Given the description of an element on the screen output the (x, y) to click on. 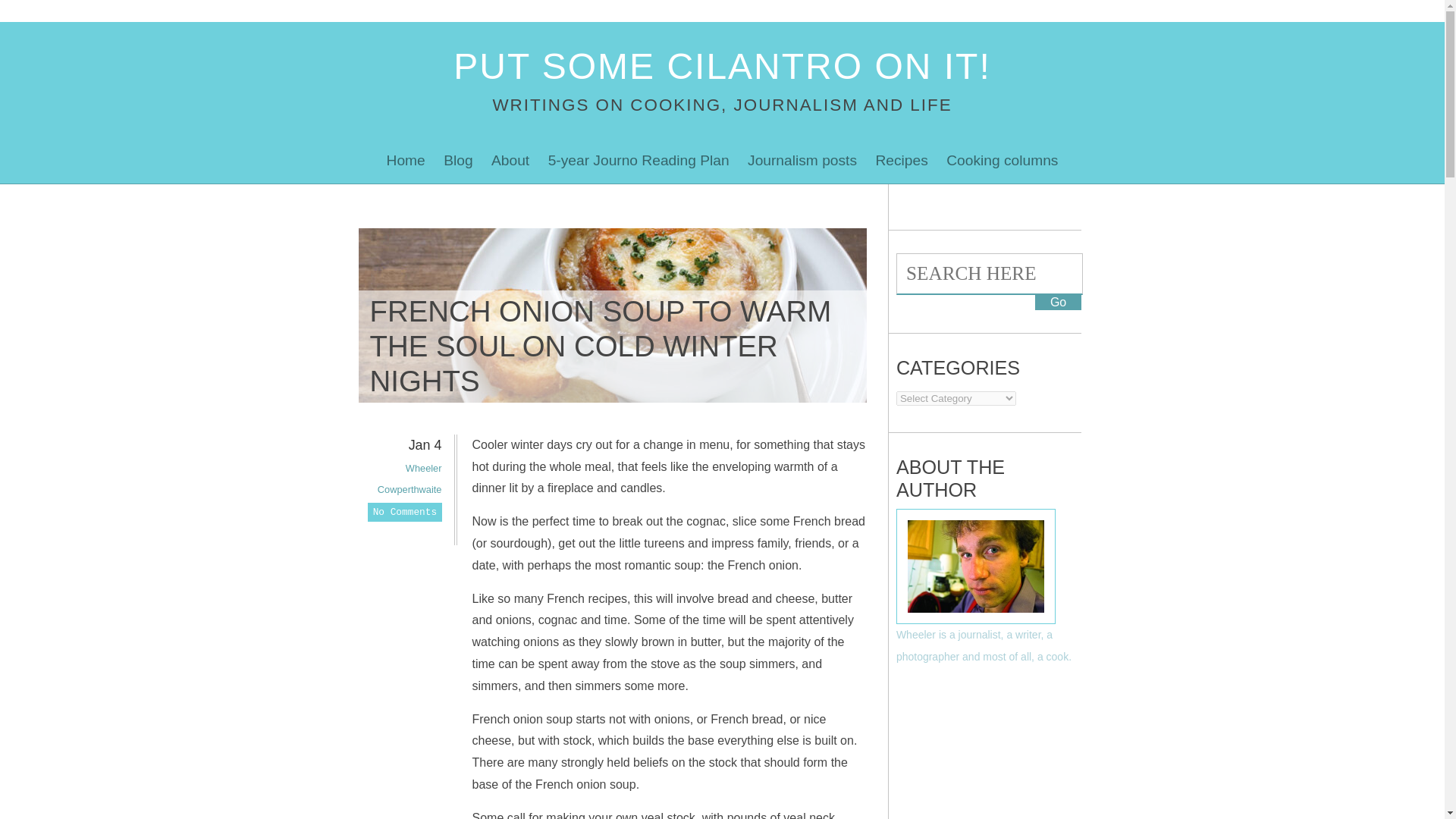
Blog (457, 160)
No Comments (404, 511)
FRENCH ONION SOUP TO WARM THE SOUL ON COLD WINTER NIGHTS (600, 345)
Go (1058, 302)
Recipes (900, 160)
Home (405, 160)
5-year Journo Reading Plan (638, 160)
About (510, 160)
Wheeler Cowperthwaite (409, 479)
permalink (435, 532)
